Given the description of an element on the screen output the (x, y) to click on. 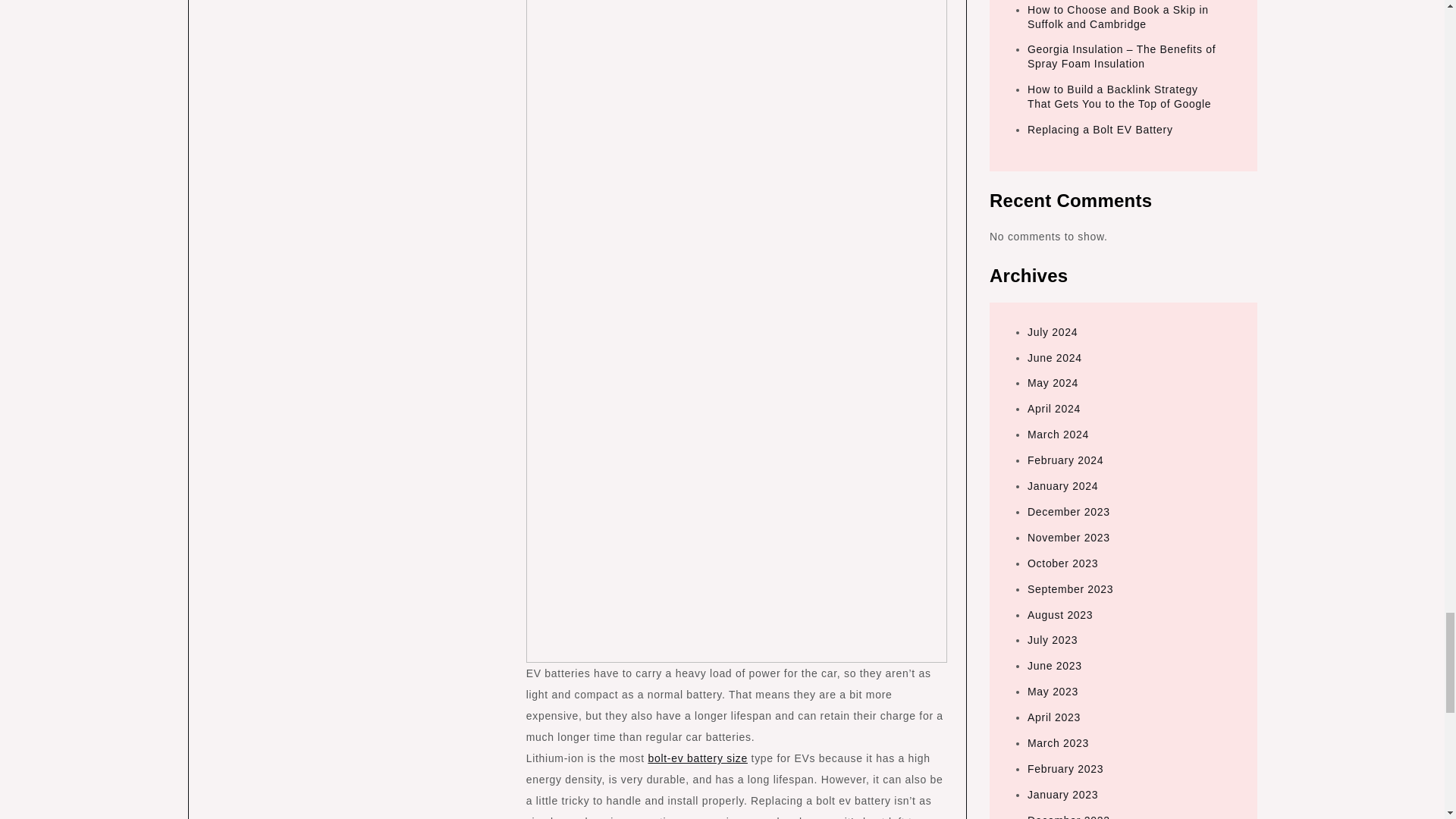
bolt-ev battery size (697, 758)
